Given the description of an element on the screen output the (x, y) to click on. 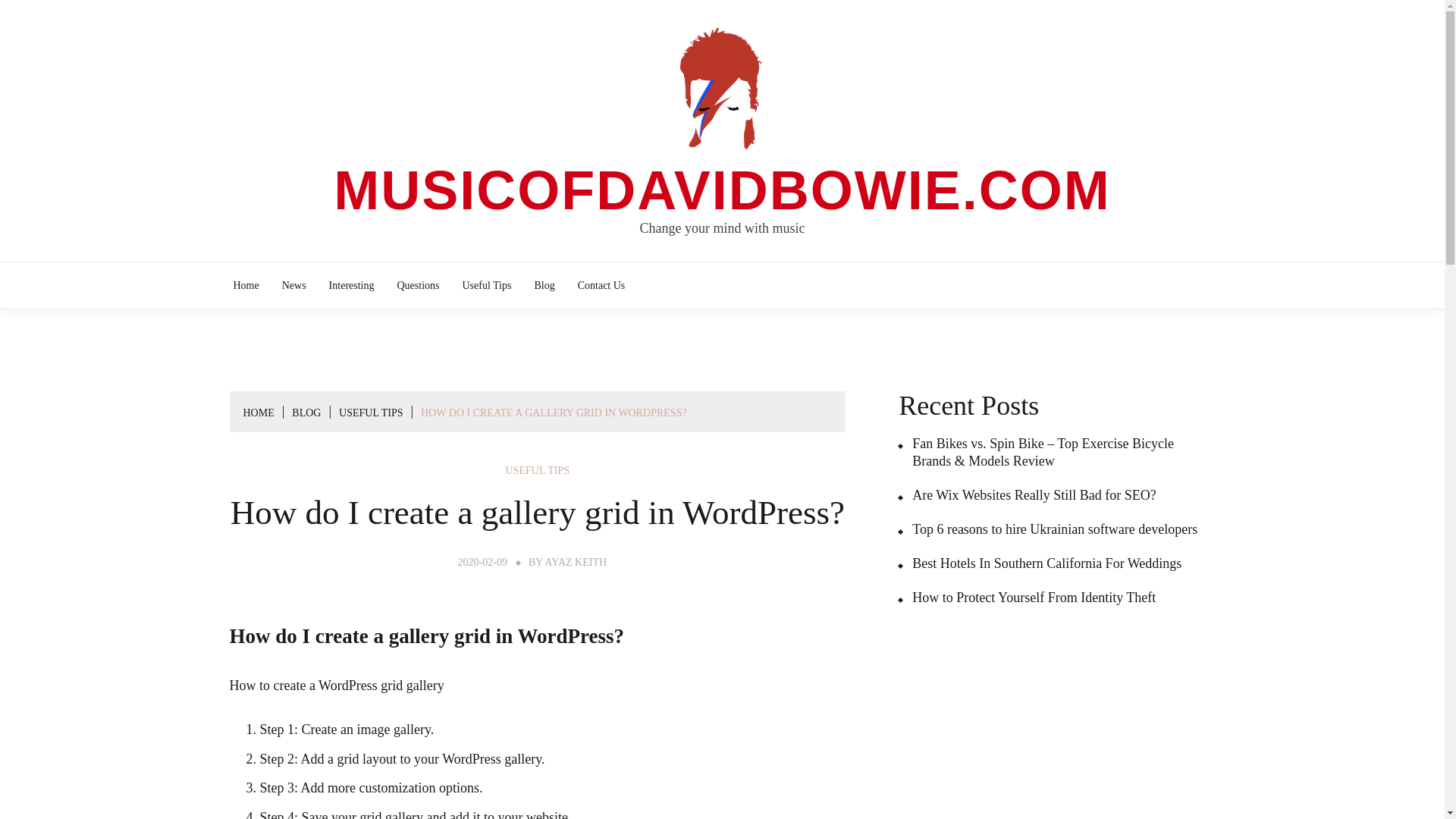
BLOG (306, 412)
MUSICOFDAVIDBOWIE.COM (721, 189)
Best Hotels In Southern California For Weddings (1039, 563)
Are Wix Websites Really Still Bad for SEO? (1027, 495)
HOW DO I CREATE A GALLERY GRID IN WORDPRESS? (553, 412)
2020-02-09 (482, 562)
Contact Us (600, 285)
Questions (417, 285)
Interesting (351, 285)
Useful Tips (486, 285)
